Given the description of an element on the screen output the (x, y) to click on. 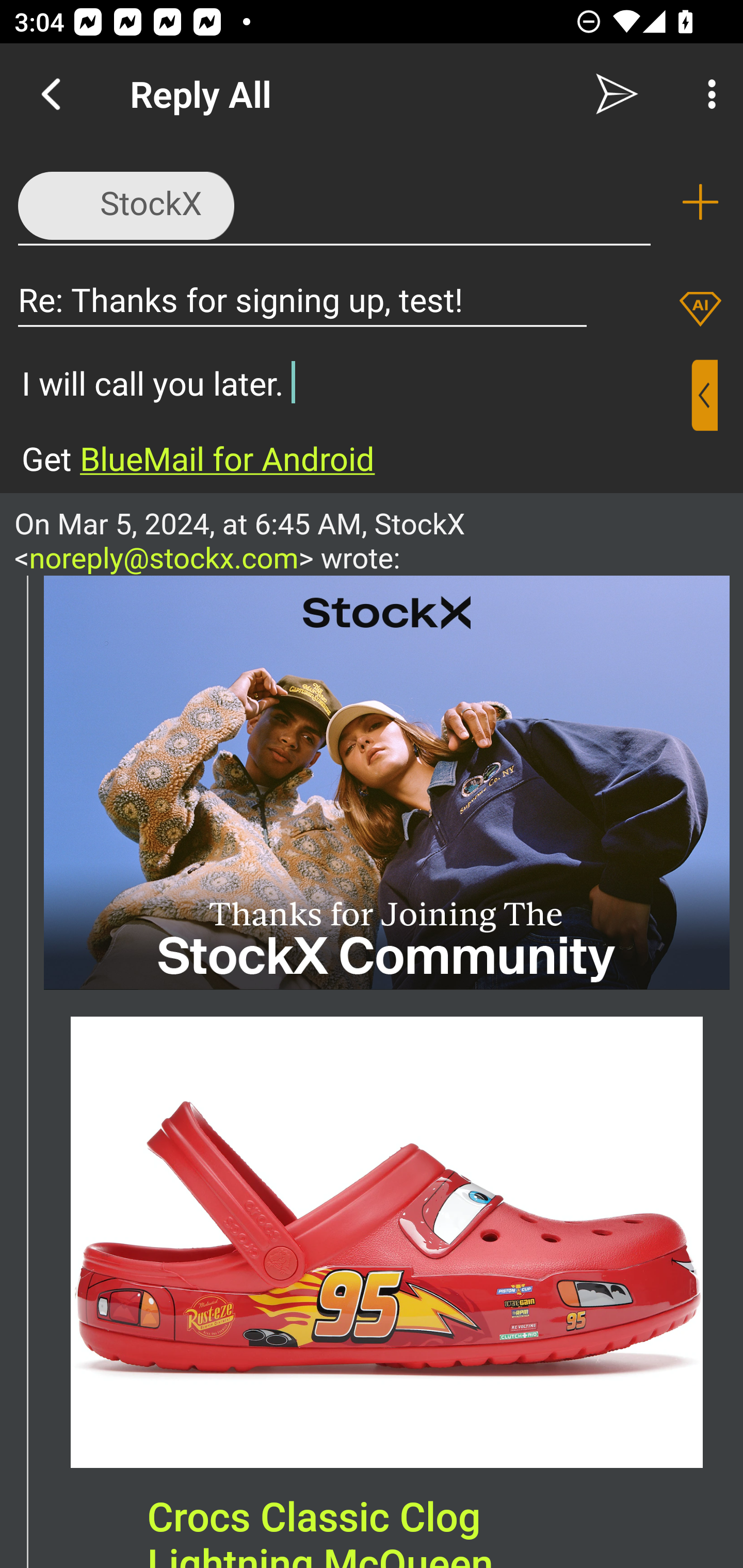
Navigate up (50, 93)
Send (616, 93)
More Options (706, 93)
StockX <noreply@stockx.com>,  (334, 201)
Add recipient (To) (699, 201)
Re: Thanks for signing up, test! (302, 299)
noreply@stockx.com (163, 557)
click?upn=u001 (387, 781)
Crocs Classic Clog Lightning McQueen (386, 1241)
Crocs Classic Clog Lightning McQueen (320, 1530)
